Given the description of an element on the screen output the (x, y) to click on. 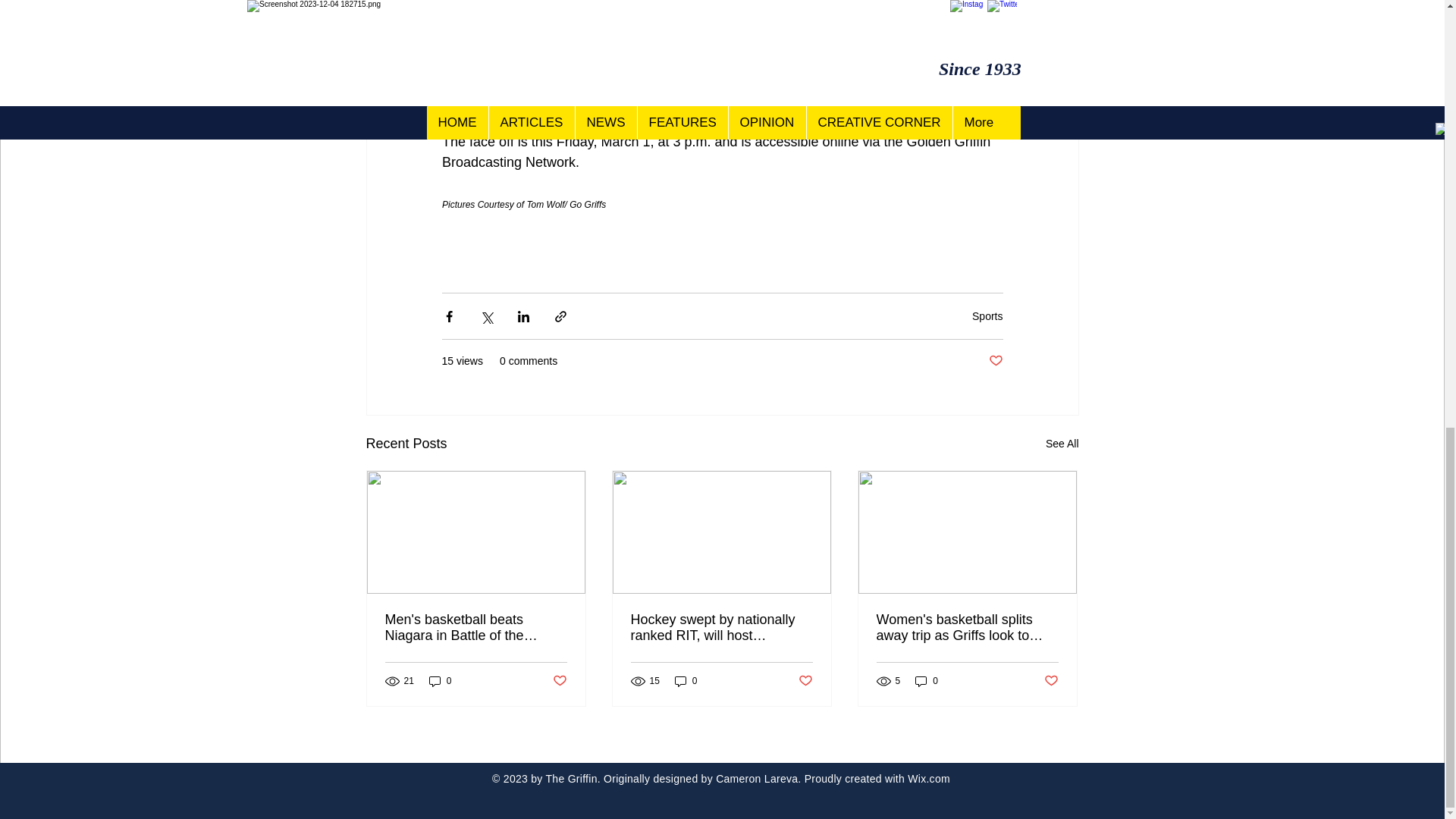
0 (926, 680)
0 (685, 680)
Sports (987, 315)
Post not marked as liked (804, 681)
Post not marked as liked (995, 360)
Post not marked as liked (558, 681)
0 (440, 680)
